Given the description of an element on the screen output the (x, y) to click on. 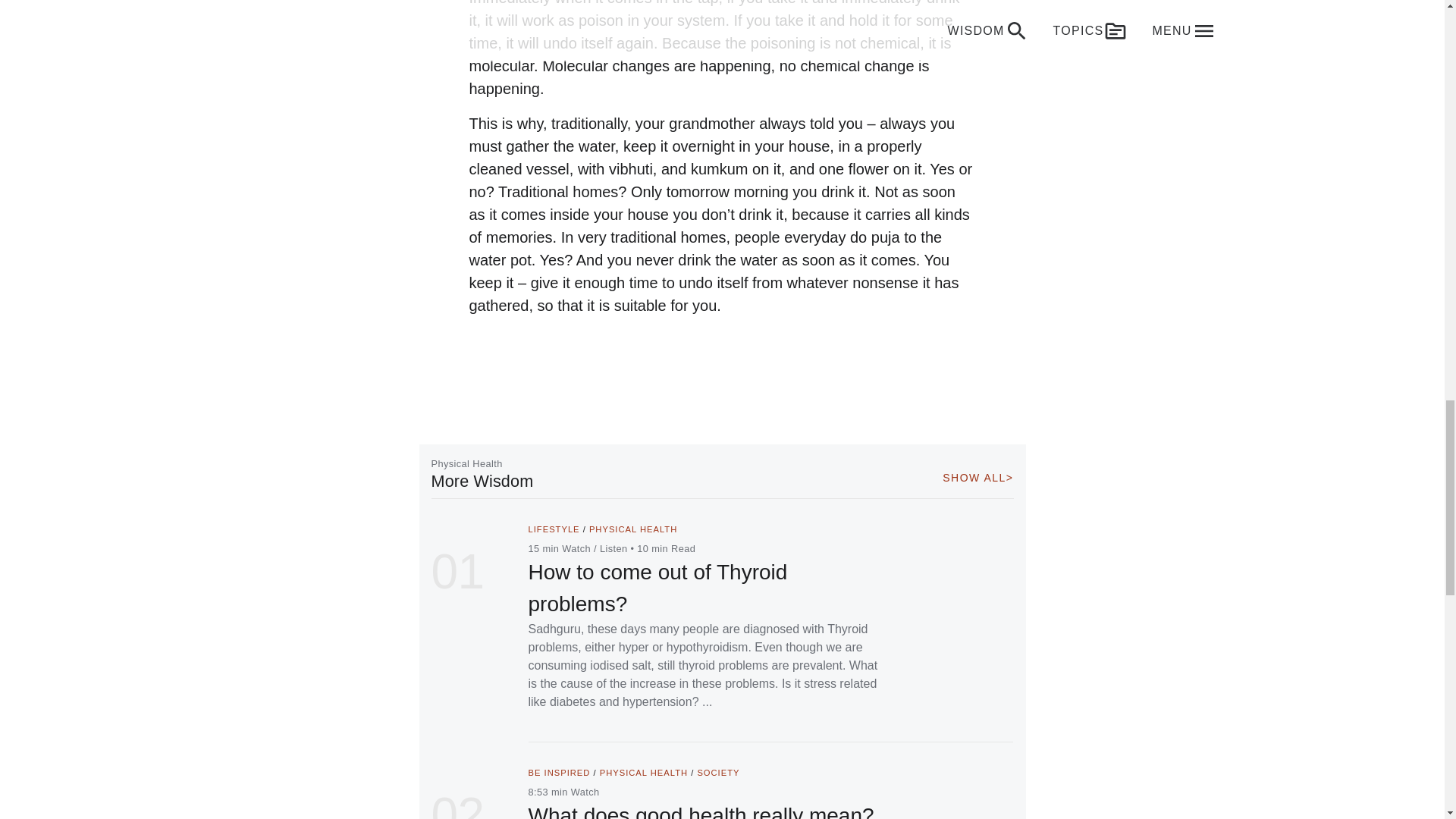
PHYSICAL HEALTH (633, 528)
PHYSICAL HEALTH (643, 772)
LIFESTYLE (553, 528)
BE INSPIRED (558, 772)
SOCIETY (718, 772)
